Given the description of an element on the screen output the (x, y) to click on. 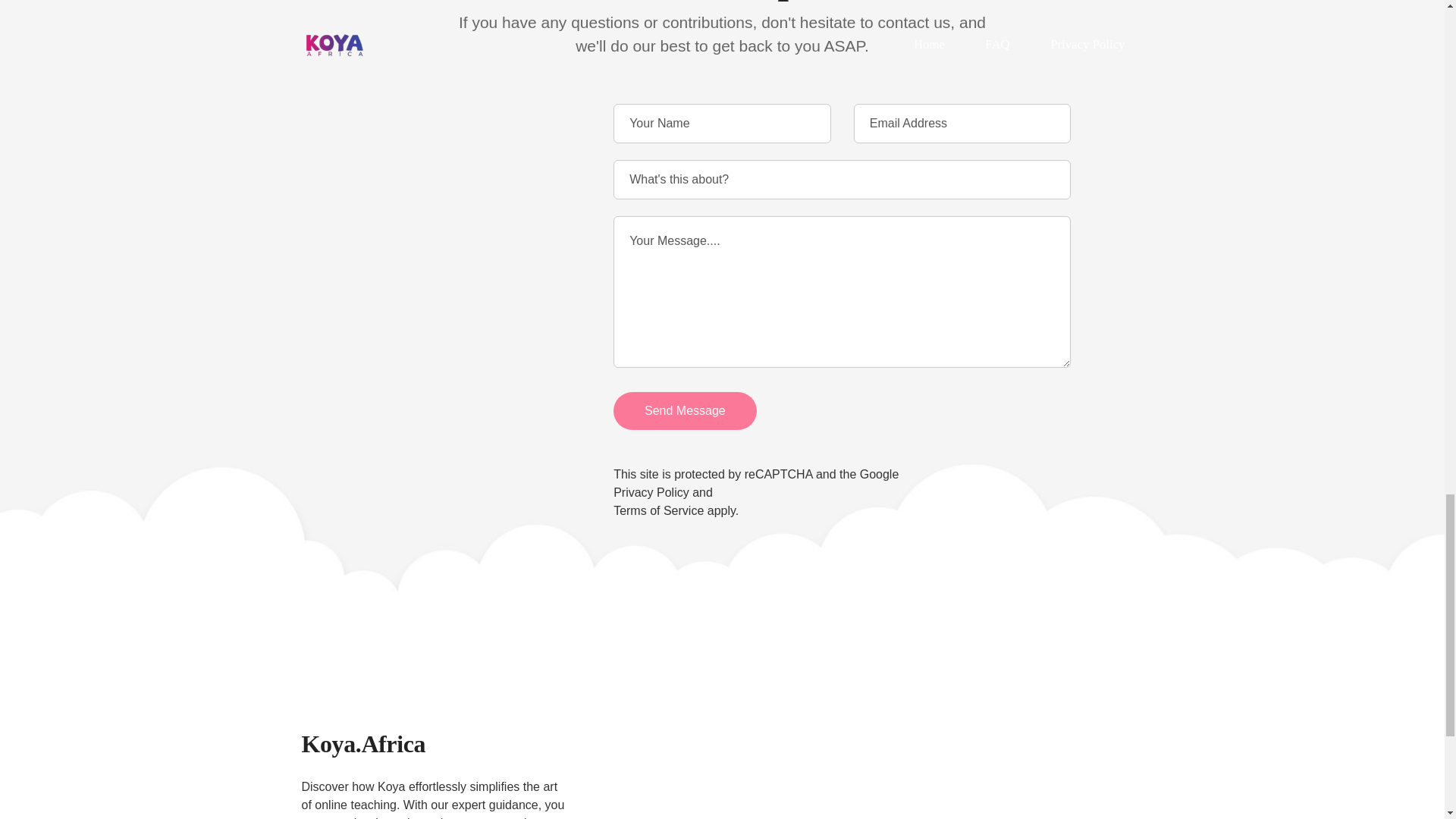
Send Message (684, 411)
Privacy Policy (650, 492)
Terms of Service (657, 510)
